Given the description of an element on the screen output the (x, y) to click on. 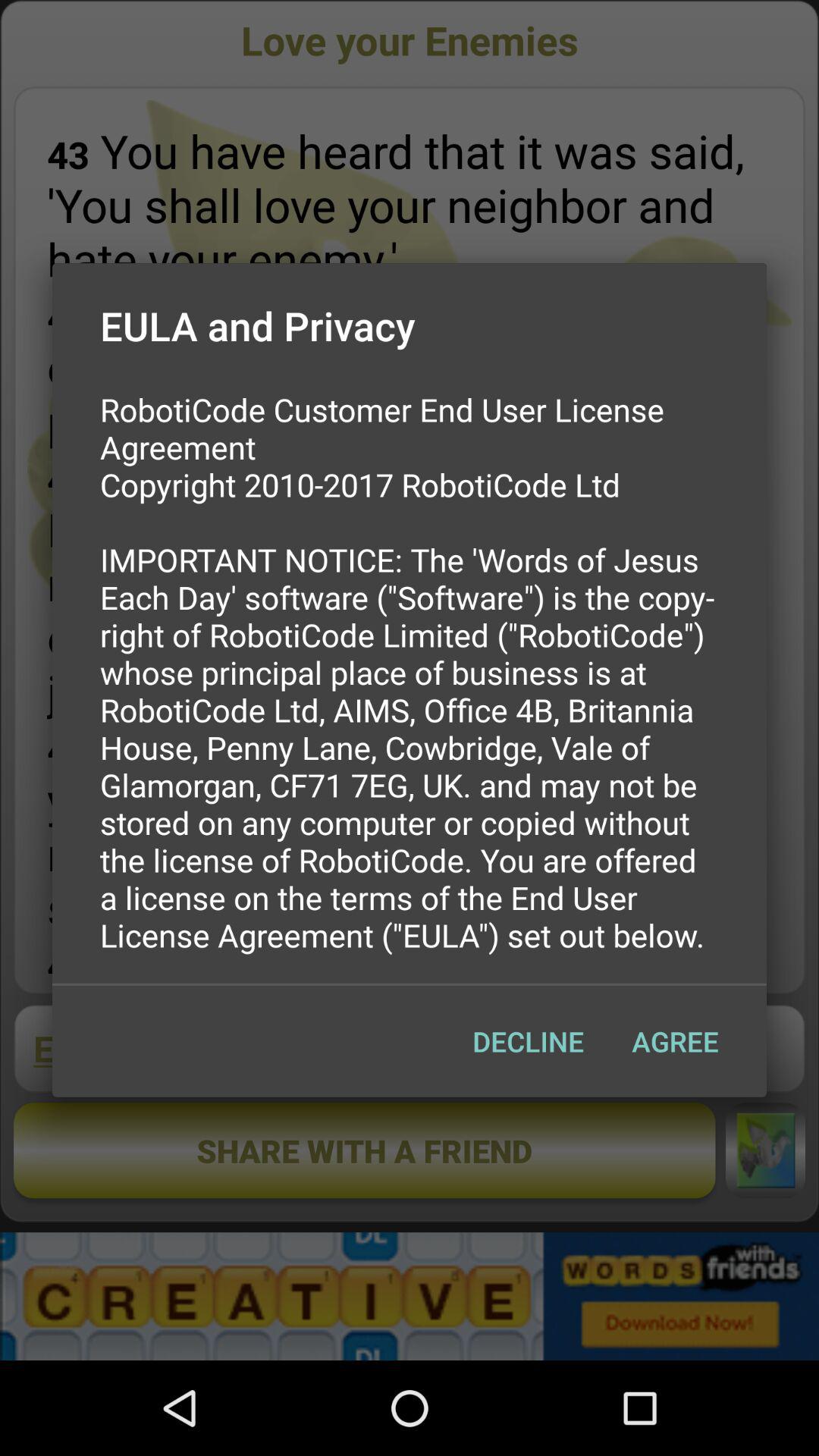
turn on button at the bottom (527, 1041)
